Given the description of an element on the screen output the (x, y) to click on. 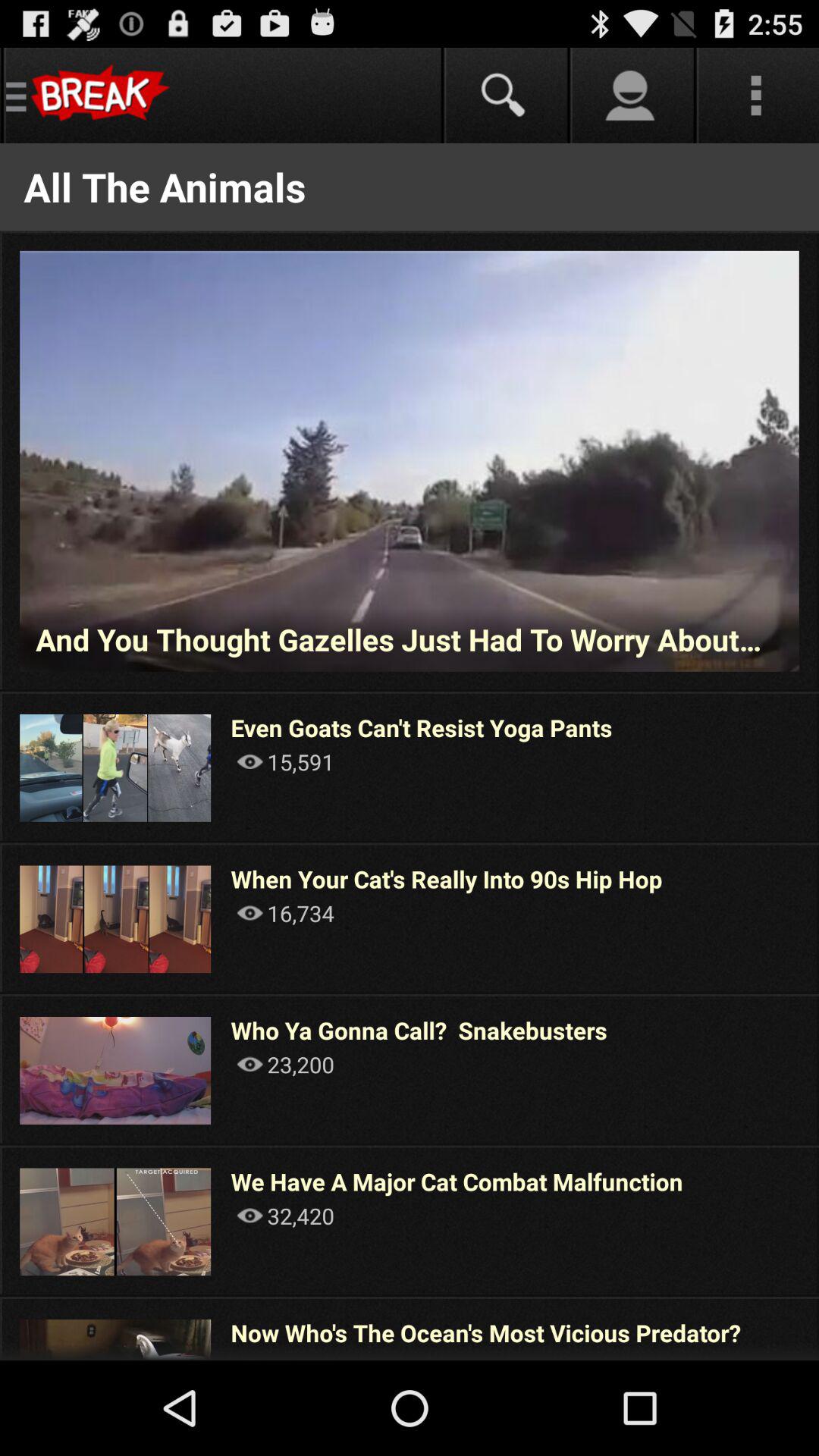
launch the icon above 35,285 (485, 1332)
